Given the description of an element on the screen output the (x, y) to click on. 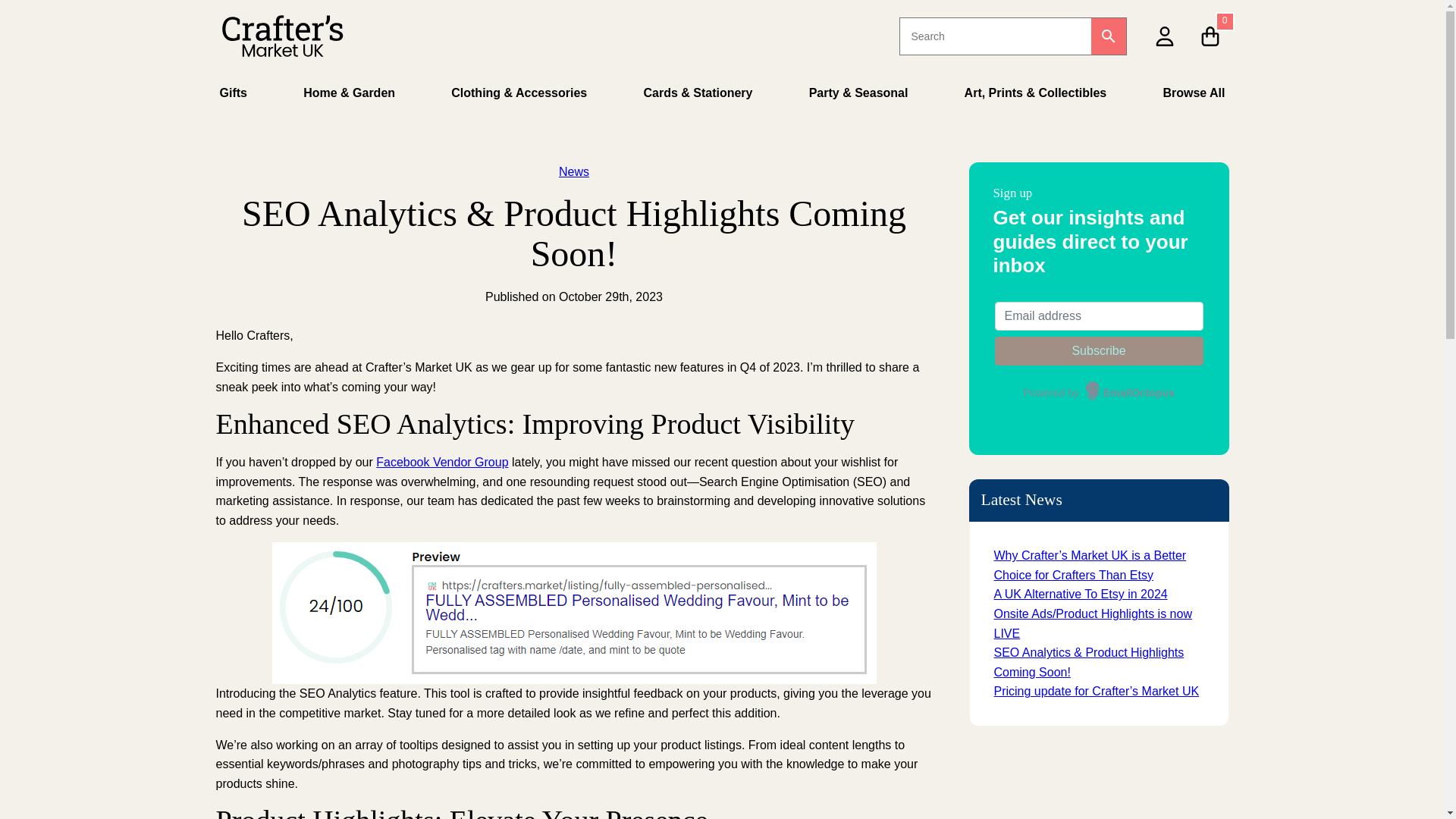
Subscribe (1099, 350)
0 (1209, 35)
Log in (1029, 105)
0 items (1209, 35)
Register (1038, 203)
